Given the description of an element on the screen output the (x, y) to click on. 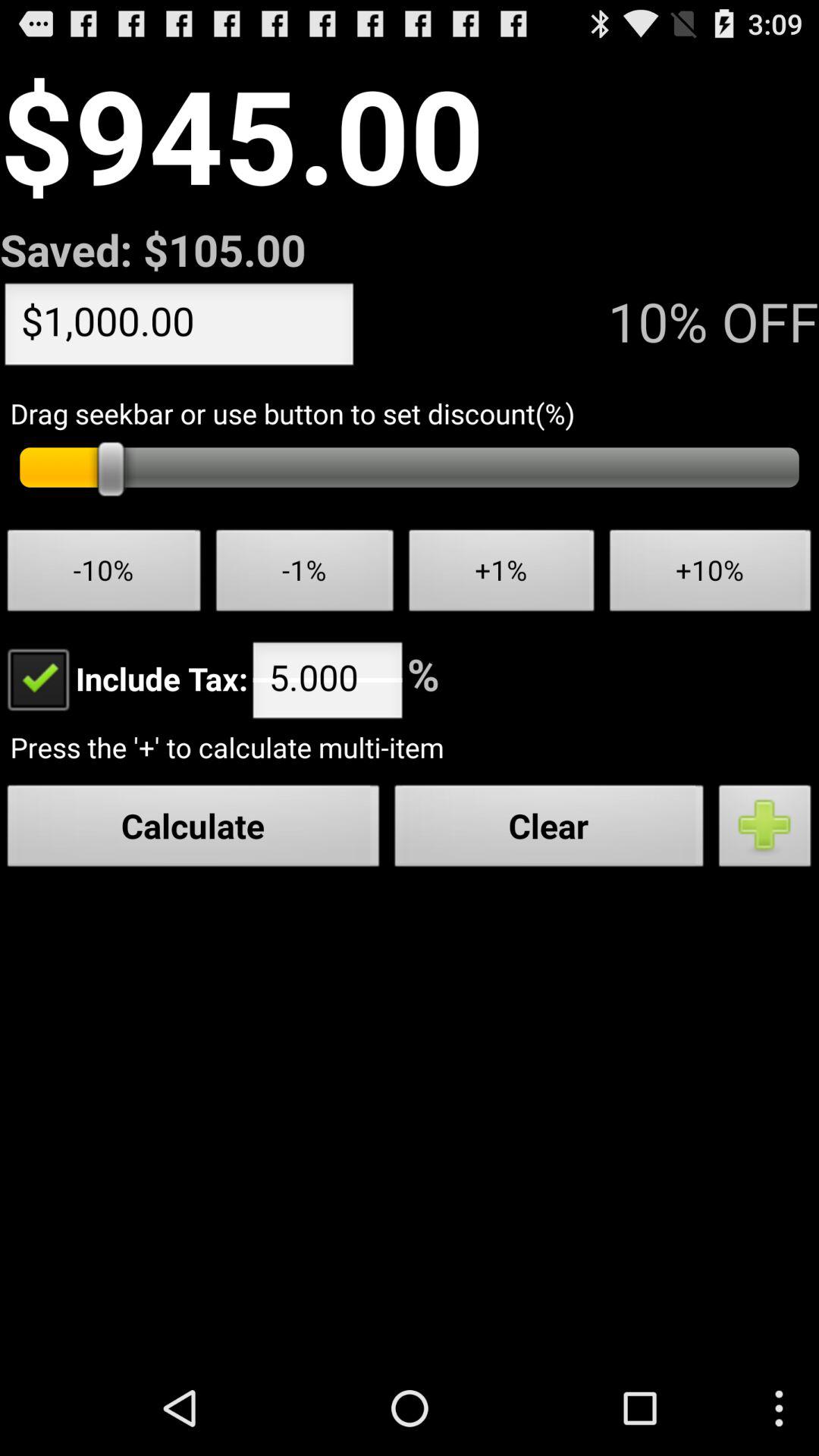
select the item to the left of 5.000 (123, 678)
